Given the description of an element on the screen output the (x, y) to click on. 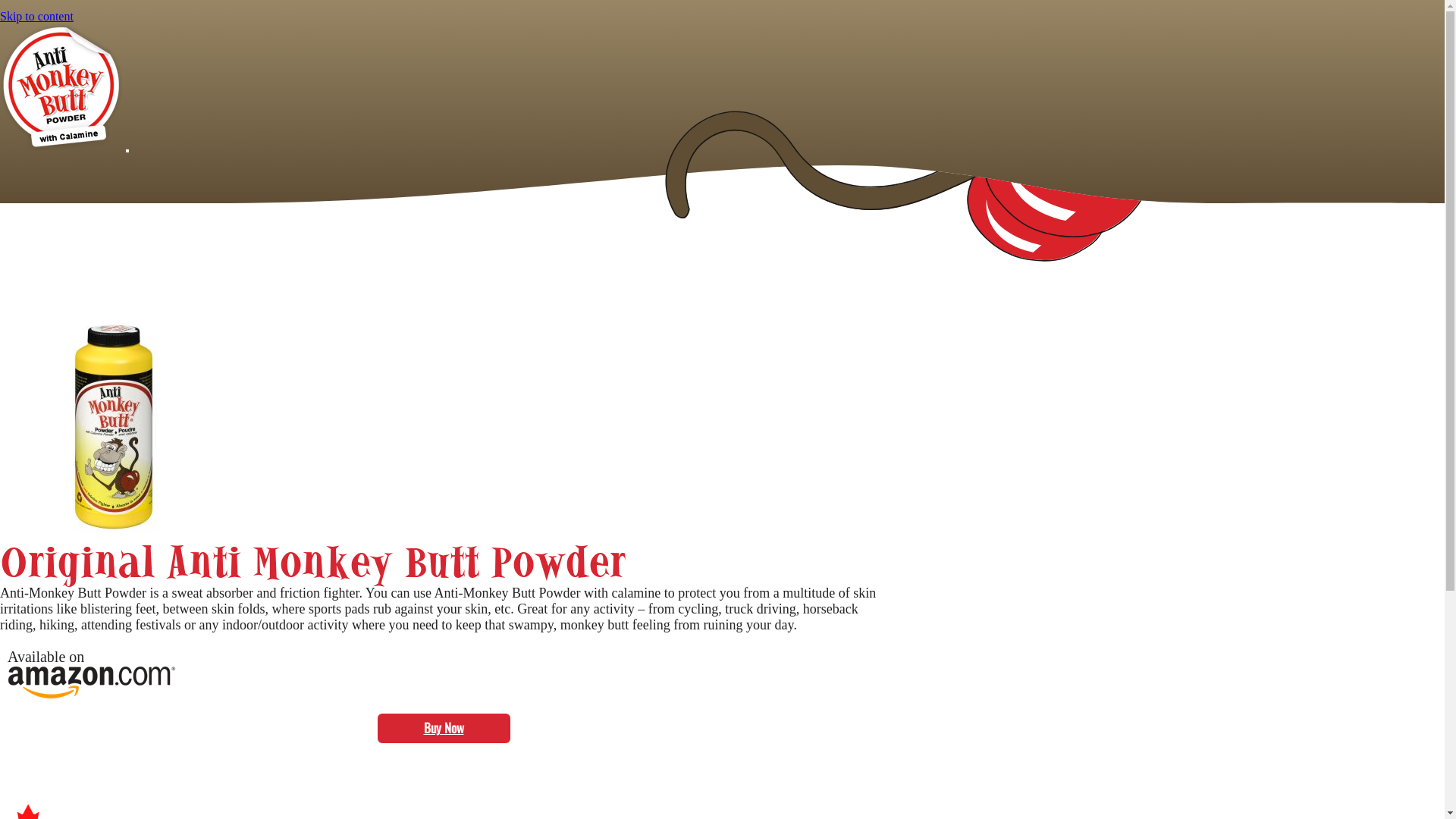
Skip to content Element type: text (36, 15)
Buy Now Element type: text (443, 728)
